Given the description of an element on the screen output the (x, y) to click on. 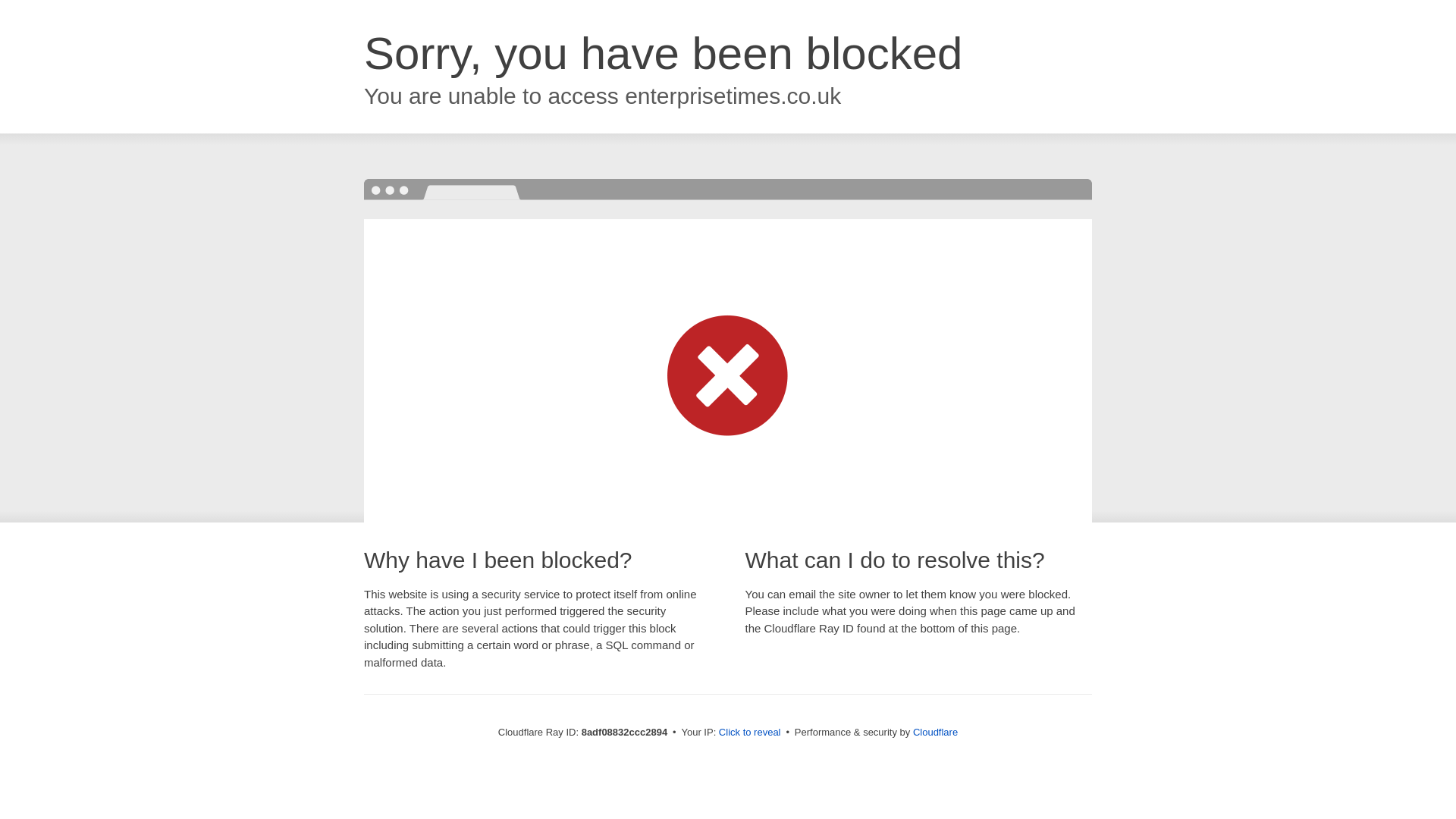
Cloudflare (935, 731)
Click to reveal (749, 732)
